Given the description of an element on the screen output the (x, y) to click on. 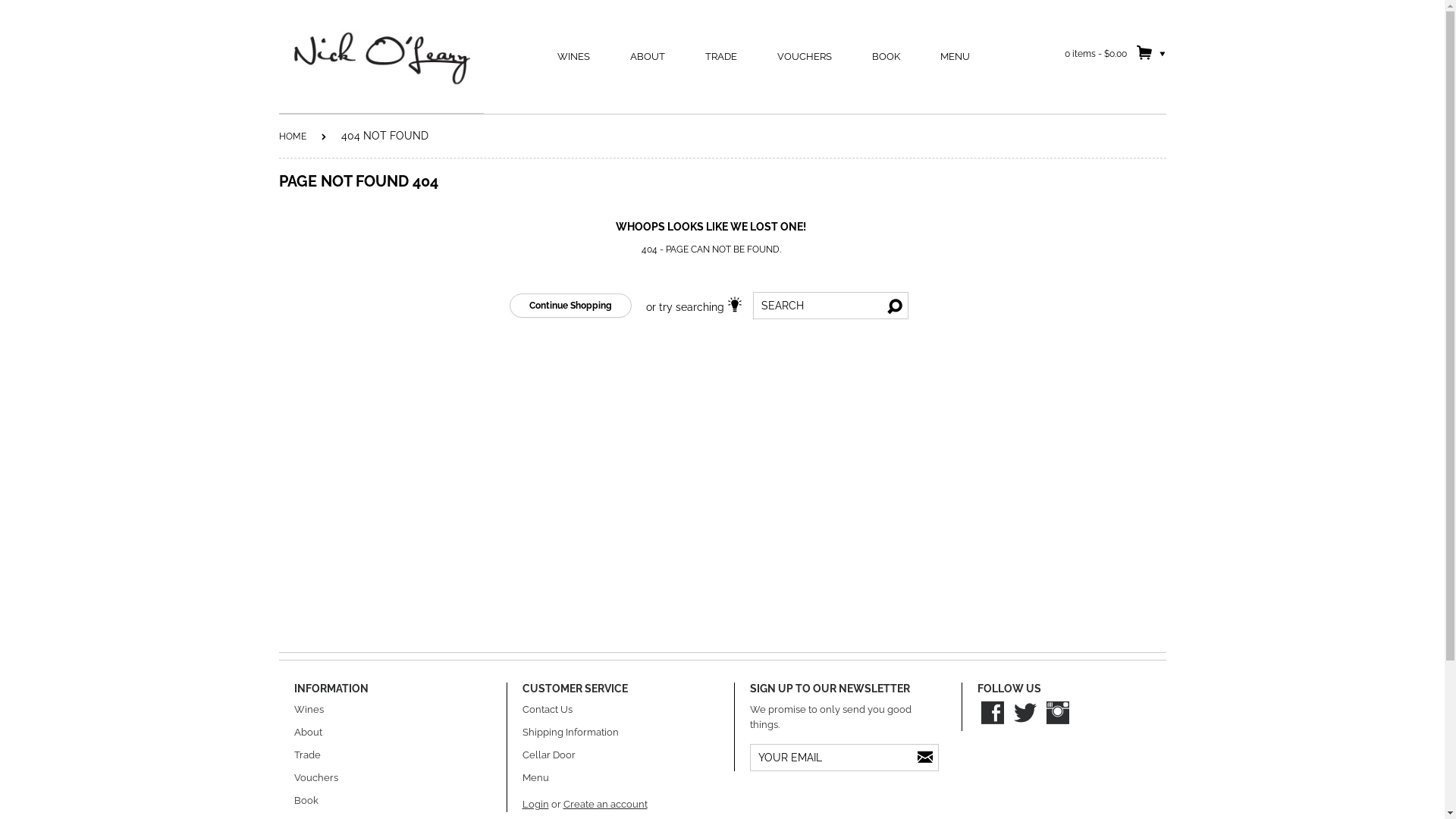
Book Element type: text (306, 800)
Create an account Element type: text (604, 803)
About Element type: text (308, 731)
Continue Shopping Element type: text (570, 305)
Wines Element type: text (308, 709)
Cellar Door Element type: text (547, 754)
TRADE Element type: text (720, 56)
MENU Element type: text (954, 56)
ABOUT Element type: text (647, 56)
VOUCHERS Element type: text (804, 56)
HOME Element type: text (292, 136)
0 items - $0.00 Element type: text (1114, 53)
Trade Element type: text (307, 754)
Shipping Information Element type: text (569, 731)
Menu Element type: text (534, 777)
BOOK Element type: text (885, 56)
WINES Element type: text (573, 56)
Nick O'Leary Wines Element type: hover (381, 57)
Contact Us Element type: text (546, 709)
Vouchers Element type: text (316, 777)
